Given the description of an element on the screen output the (x, y) to click on. 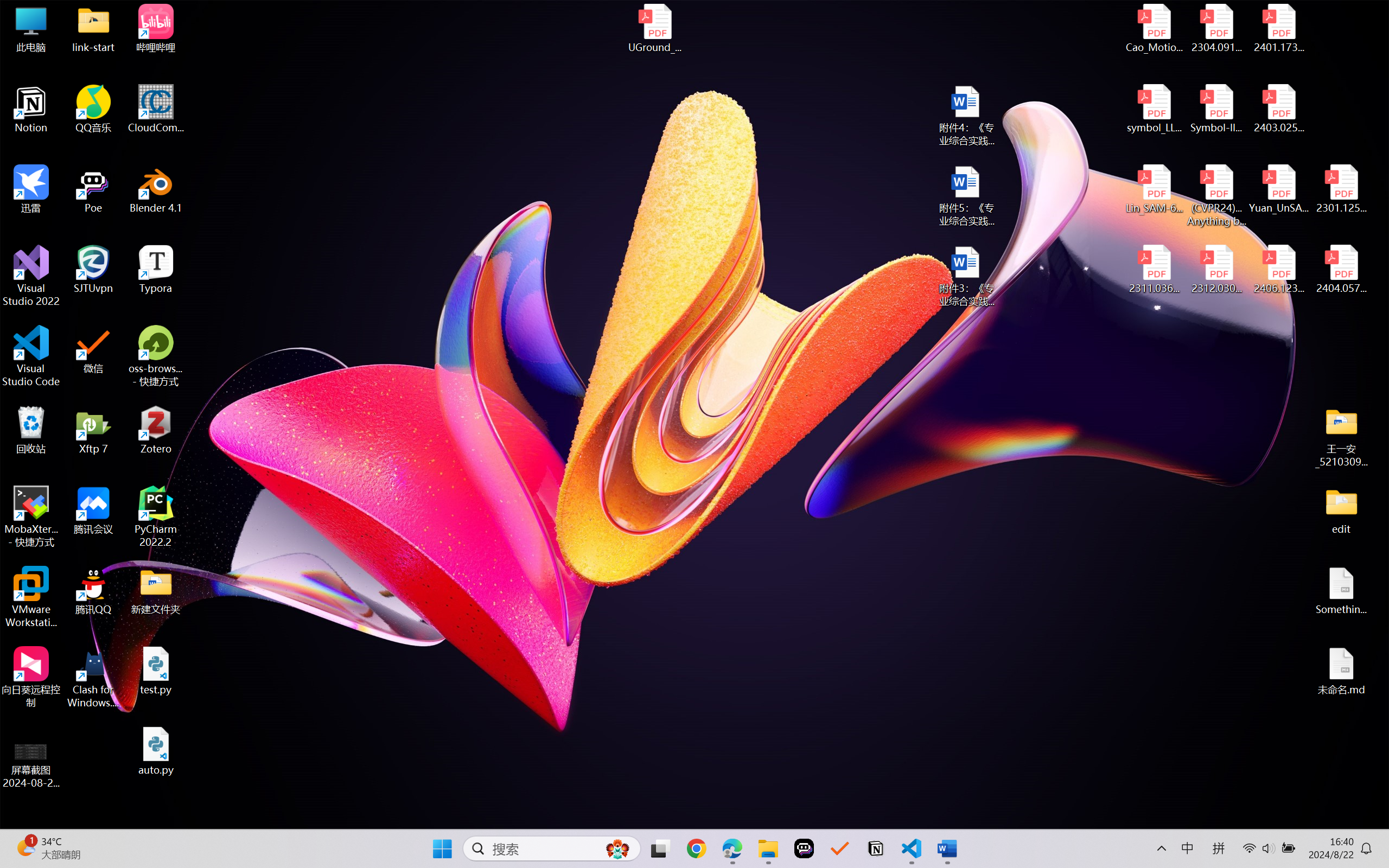
2404.05719v1.pdf (1340, 269)
Google Chrome (696, 848)
Poe (804, 848)
UGround_paper.pdf (654, 28)
Blender 4.1 (156, 189)
